Given the description of an element on the screen output the (x, y) to click on. 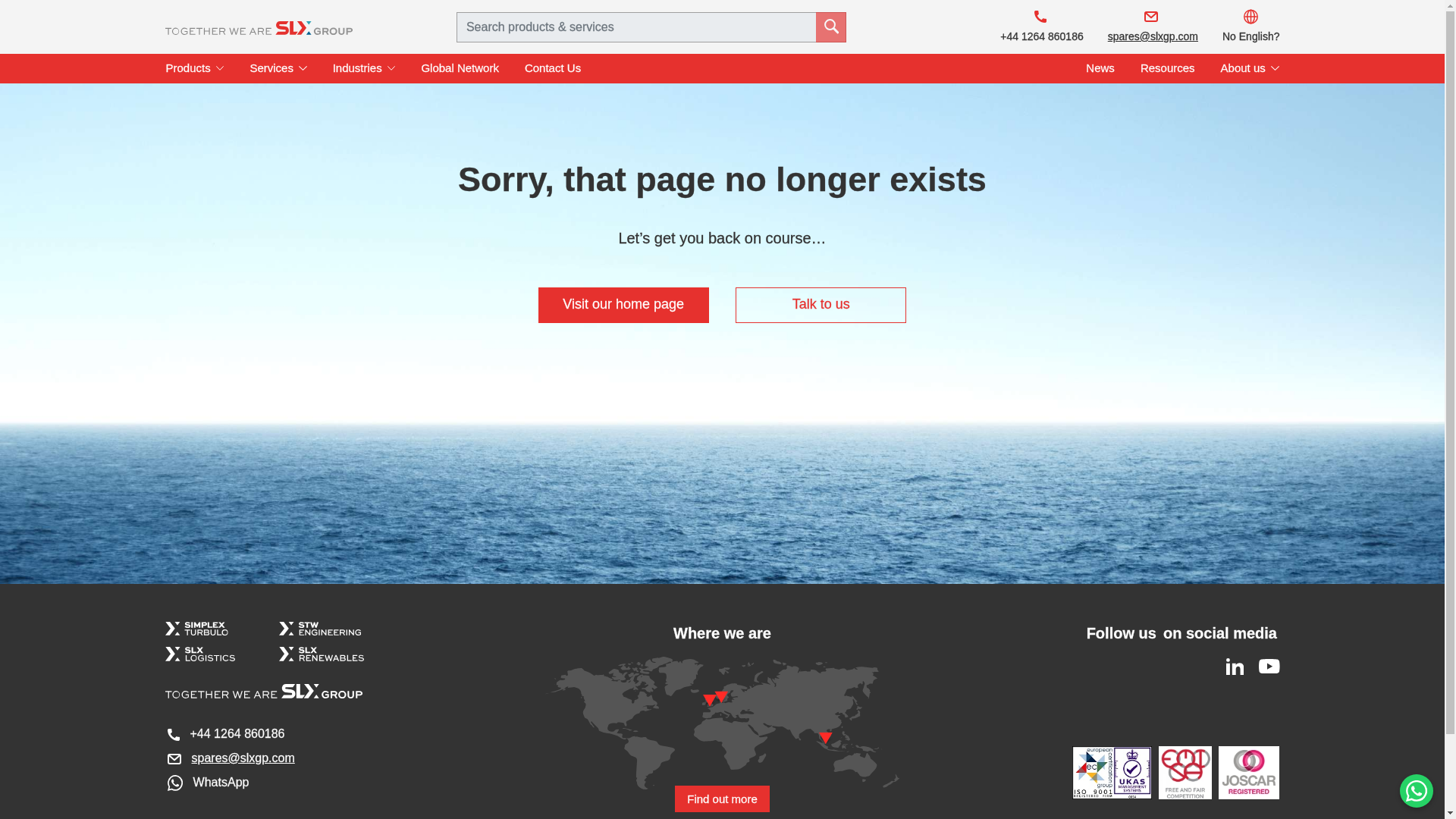
No English? (1244, 26)
Services (276, 68)
Products (194, 68)
